Given the description of an element on the screen output the (x, y) to click on. 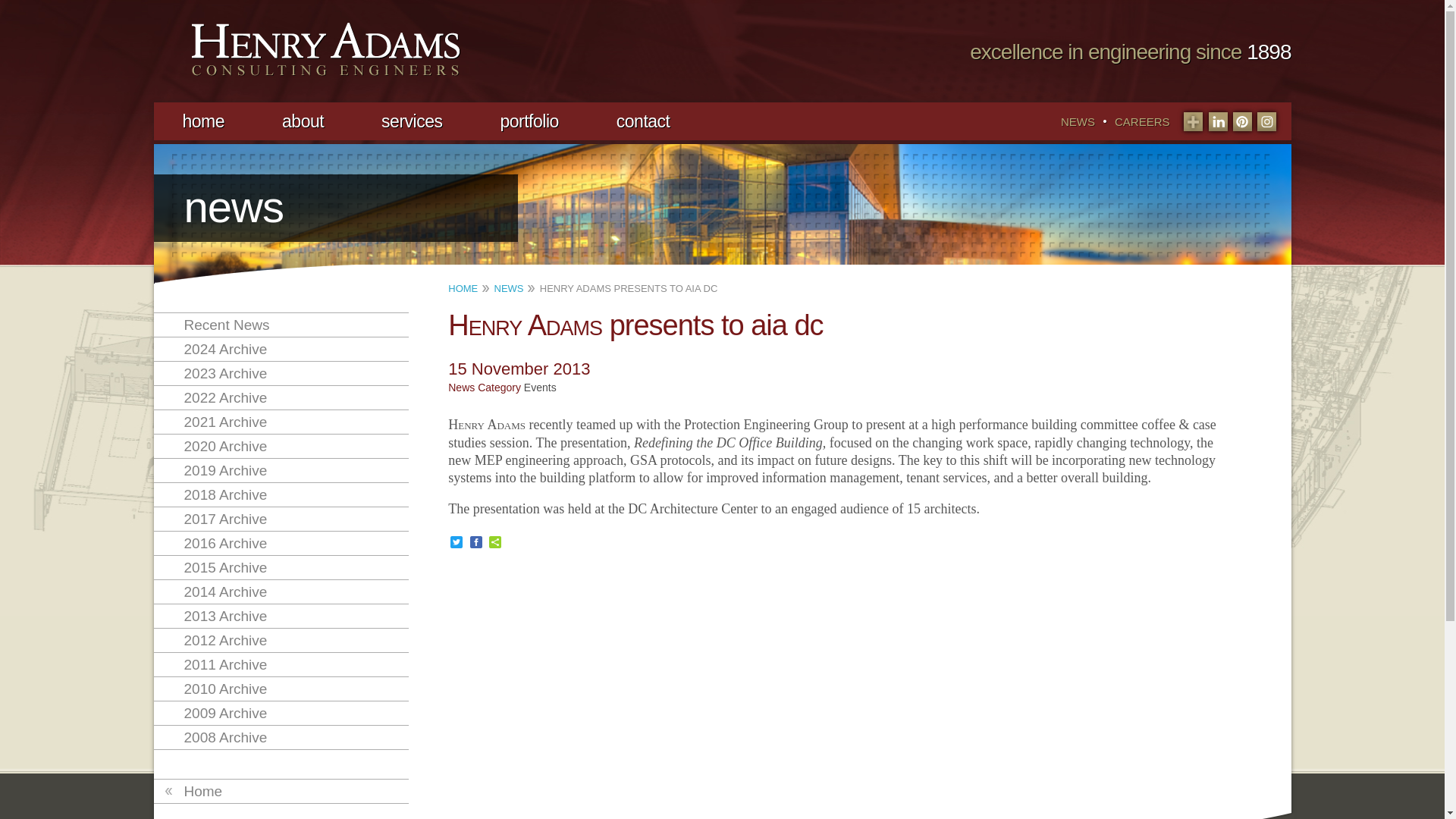
home (202, 121)
1898 (1268, 51)
